Given the description of an element on the screen output the (x, y) to click on. 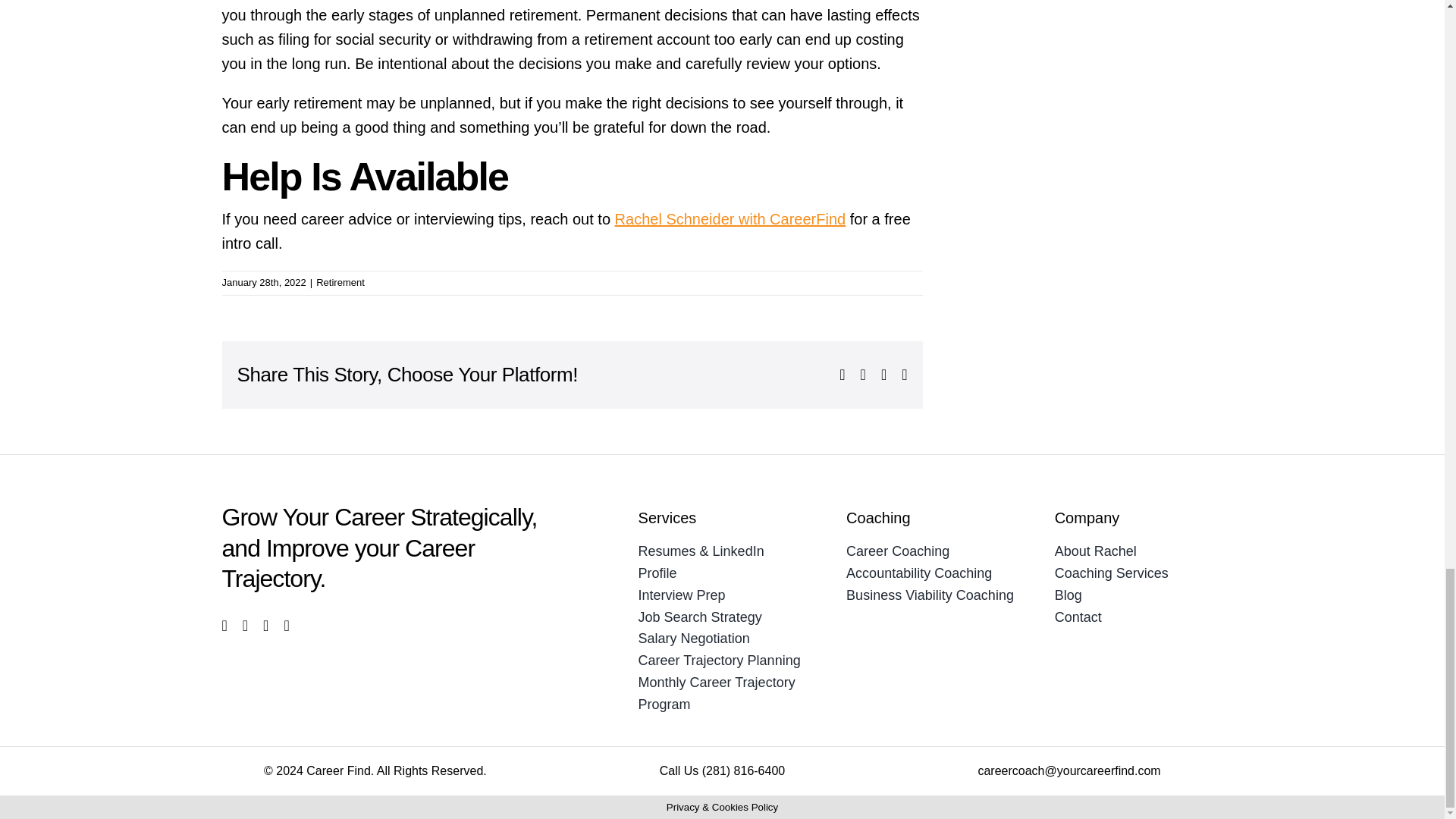
Rachel Schneider with CareerFind (729, 218)
Retirement (340, 282)
